Given the description of an element on the screen output the (x, y) to click on. 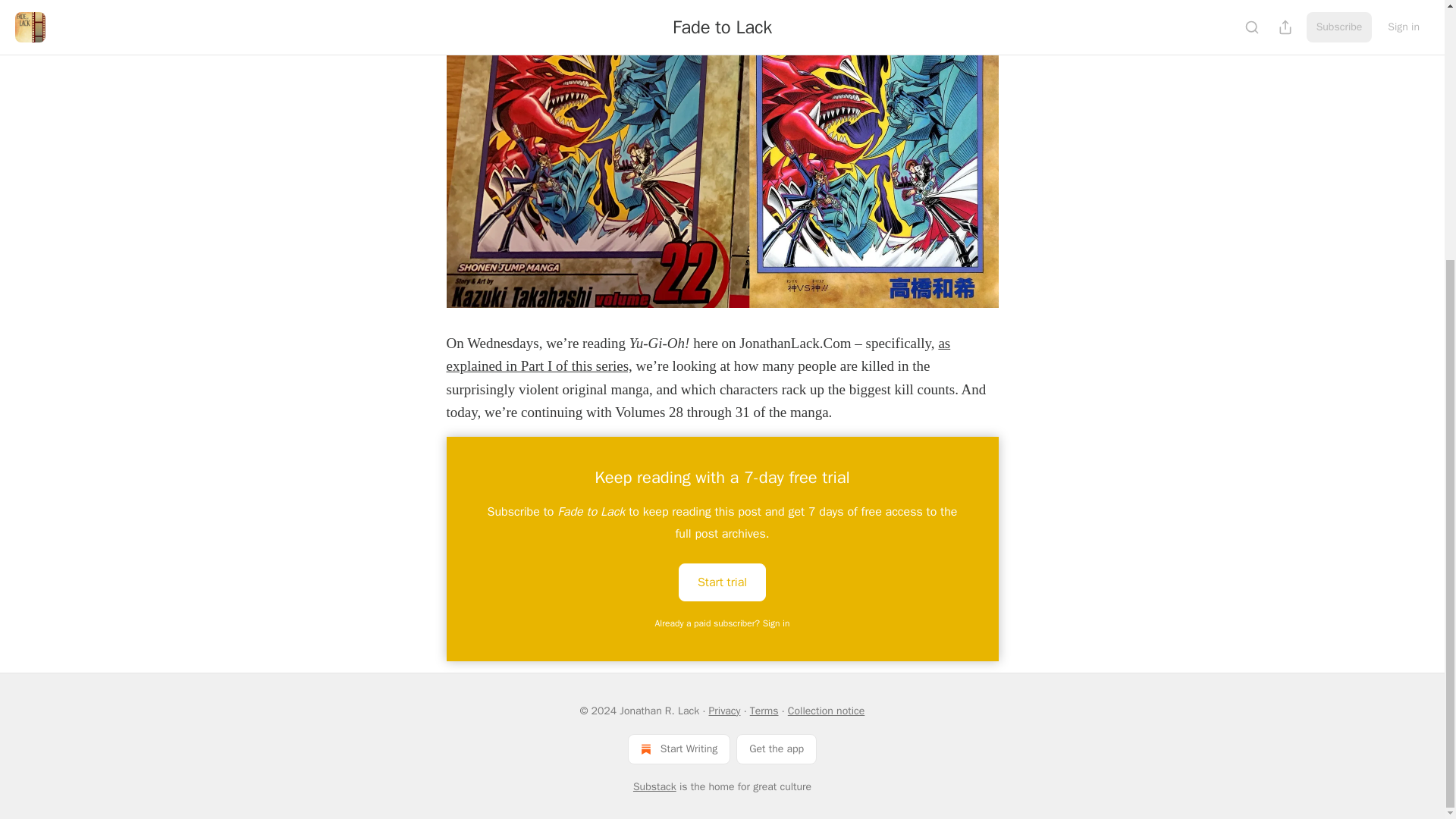
Terms (763, 710)
Substack (655, 786)
Collection notice (825, 710)
Already a paid subscriber? Sign in (722, 623)
as explained in Part I of this series, (697, 353)
Start trial (721, 581)
Start Writing (678, 748)
Start trial (721, 582)
Get the app (776, 748)
Privacy (723, 710)
